Given the description of an element on the screen output the (x, y) to click on. 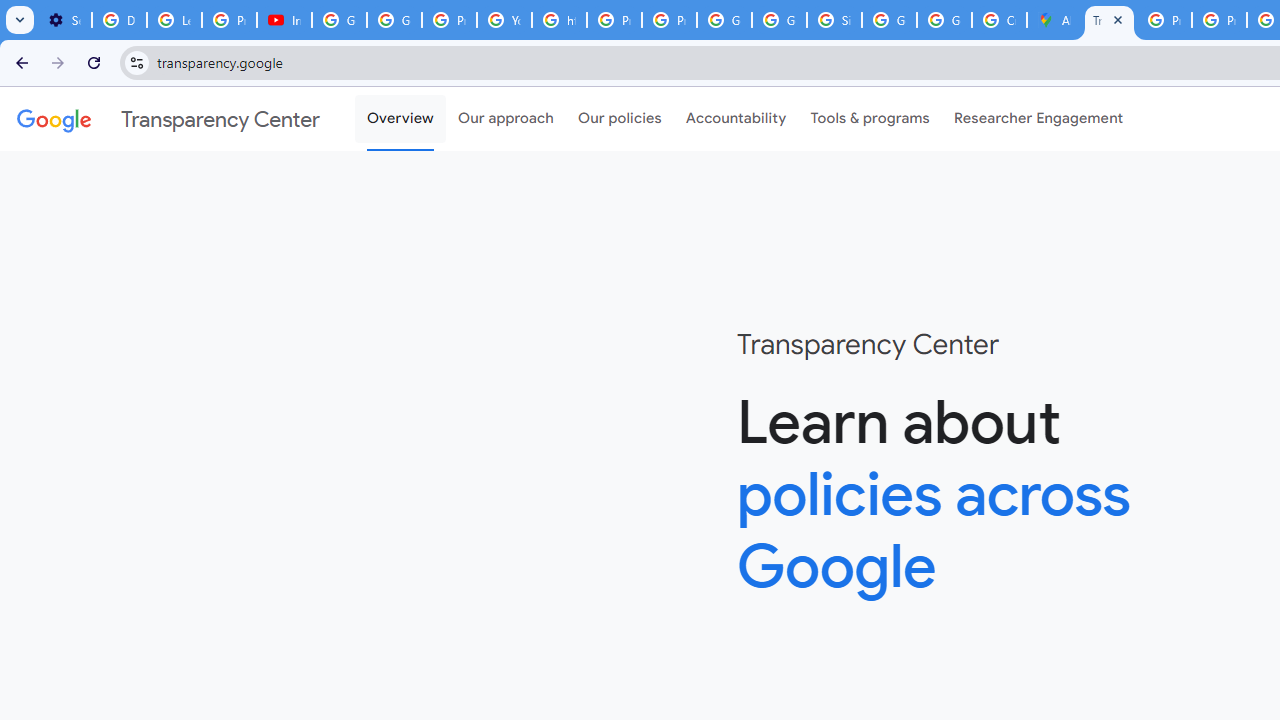
Create your Google Account (998, 20)
Google Account Help (339, 20)
Settings - Performance (64, 20)
Privacy Help Center - Policies Help (614, 20)
Delete photos & videos - Computer - Google Photos Help (119, 20)
Tools & programs (869, 119)
Transparency Center (167, 119)
YouTube (504, 20)
